Given the description of an element on the screen output the (x, y) to click on. 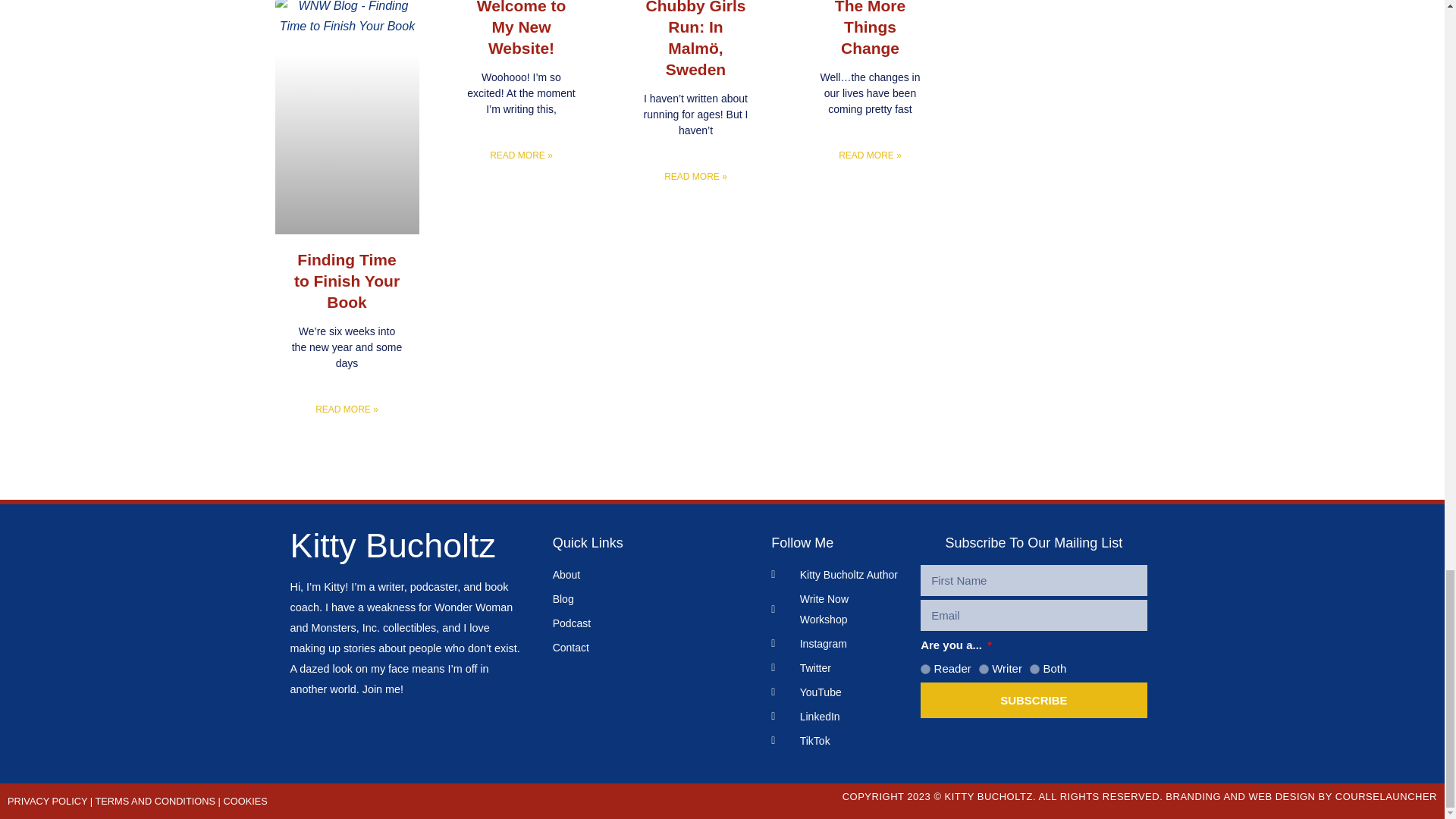
both (1034, 669)
writer (983, 669)
reader (925, 669)
